Given the description of an element on the screen output the (x, y) to click on. 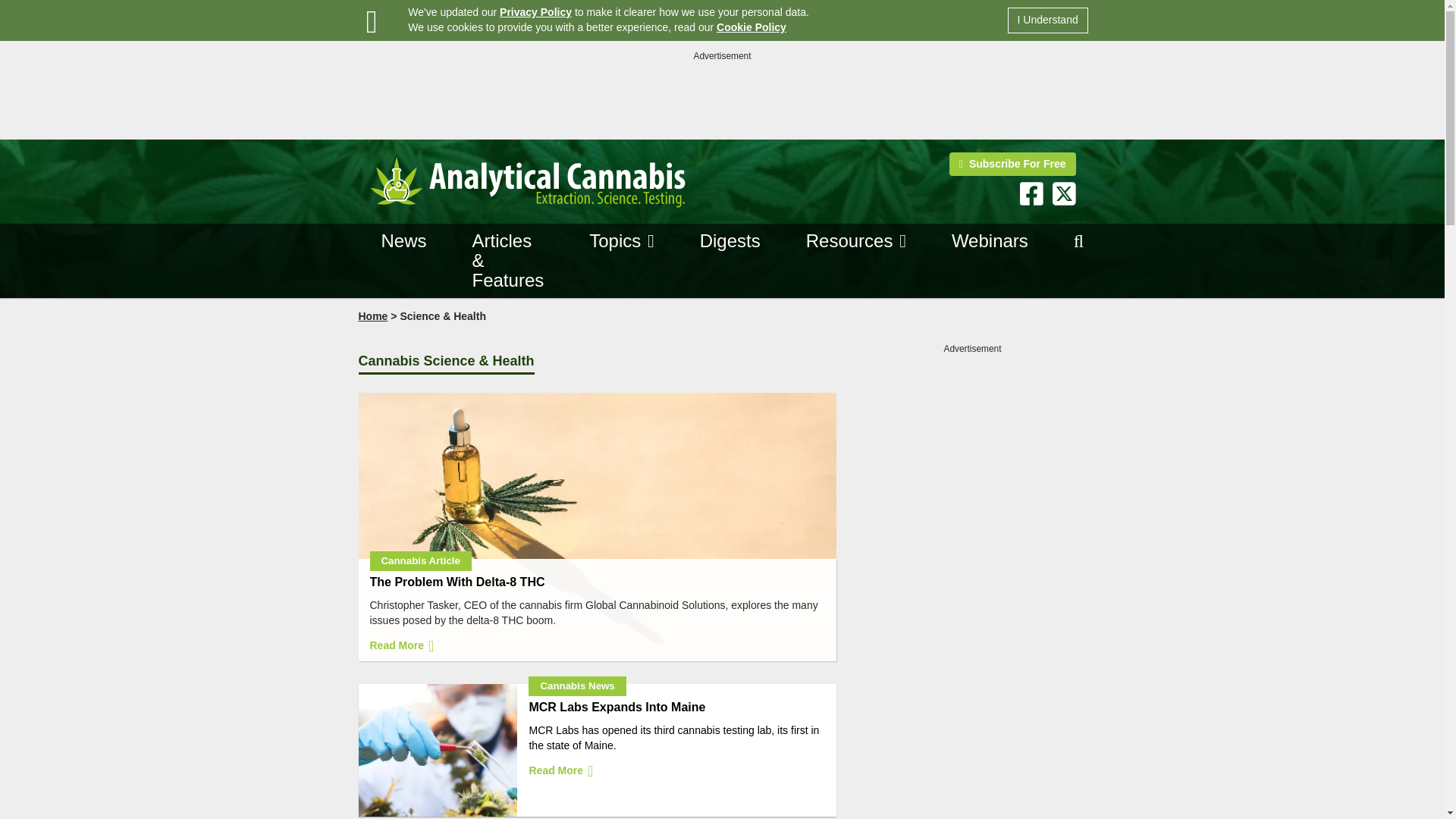
Resources (849, 240)
I Understand (1047, 20)
Webinars (989, 240)
Privacy Policy (535, 11)
News (403, 240)
  Subscribe For Free (1012, 163)
Digests (730, 240)
3rd party ad content (721, 97)
Cookie Policy (751, 27)
